Given the description of an element on the screen output the (x, y) to click on. 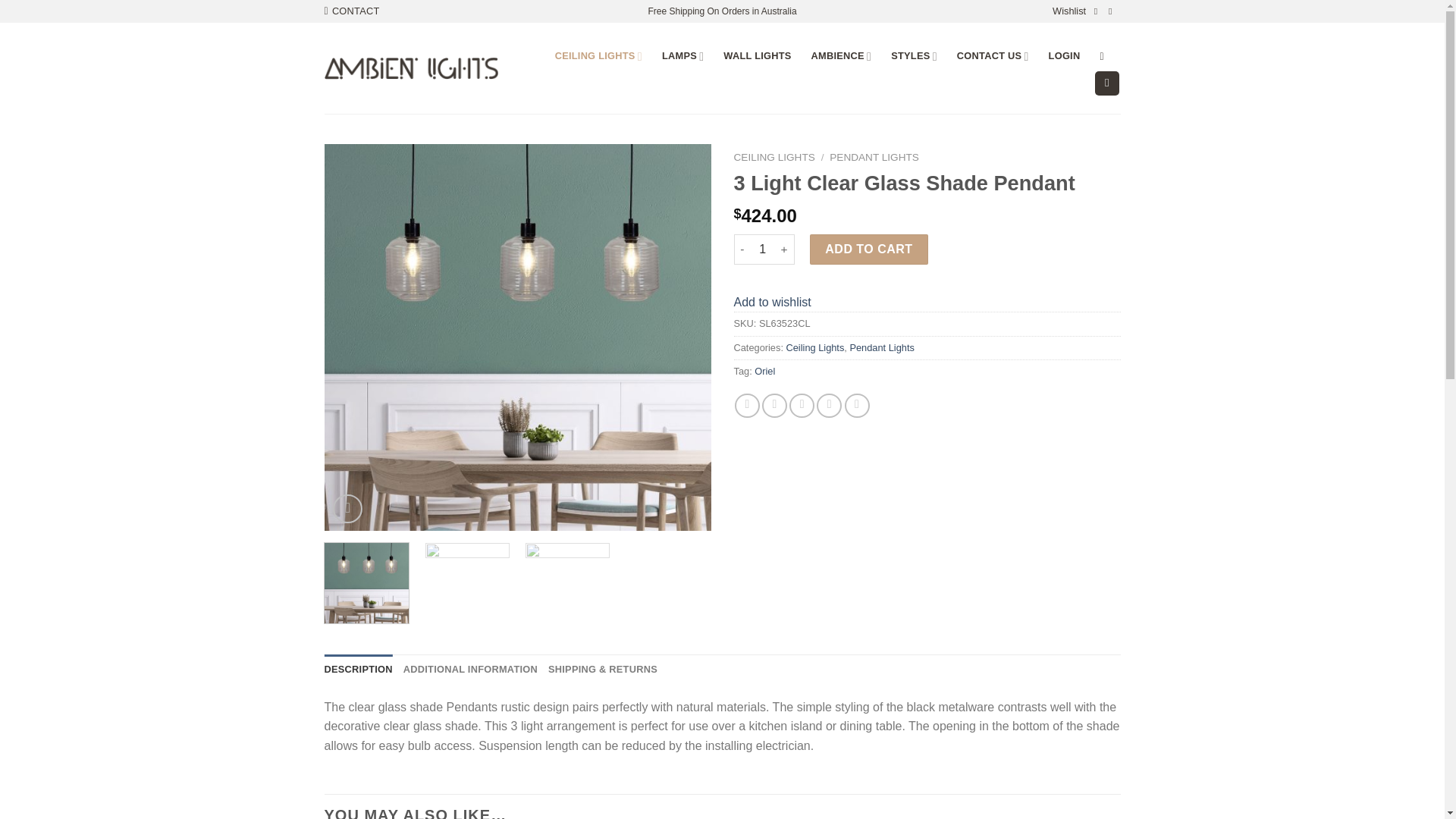
CONTACT US (992, 56)
Zoom (347, 509)
Email to a Friend (801, 405)
CONTACT (352, 11)
LOGIN (1064, 55)
Share on LinkedIn (856, 405)
Ambient Lights (410, 68)
LAMPS (682, 56)
STYLES (914, 56)
AMBIENCE (841, 56)
WALL LIGHTS (756, 55)
Wishlist (1069, 11)
CEILING LIGHTS (598, 56)
Share on Twitter (774, 405)
